Given the description of an element on the screen output the (x, y) to click on. 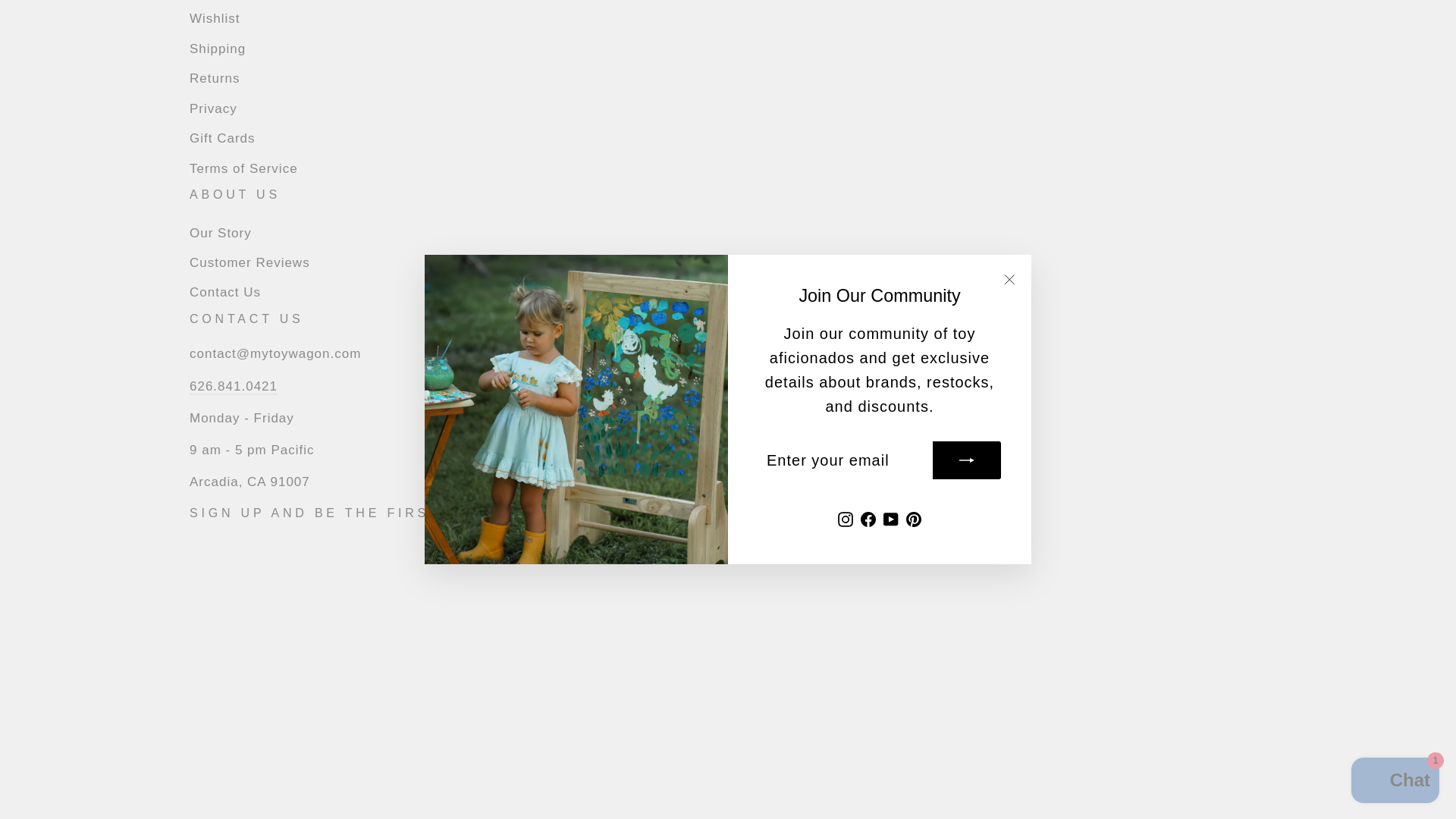
Afterpay (508, 695)
Diners Club (628, 695)
Apple Pay (587, 695)
American Express (548, 695)
